Given the description of an element on the screen output the (x, y) to click on. 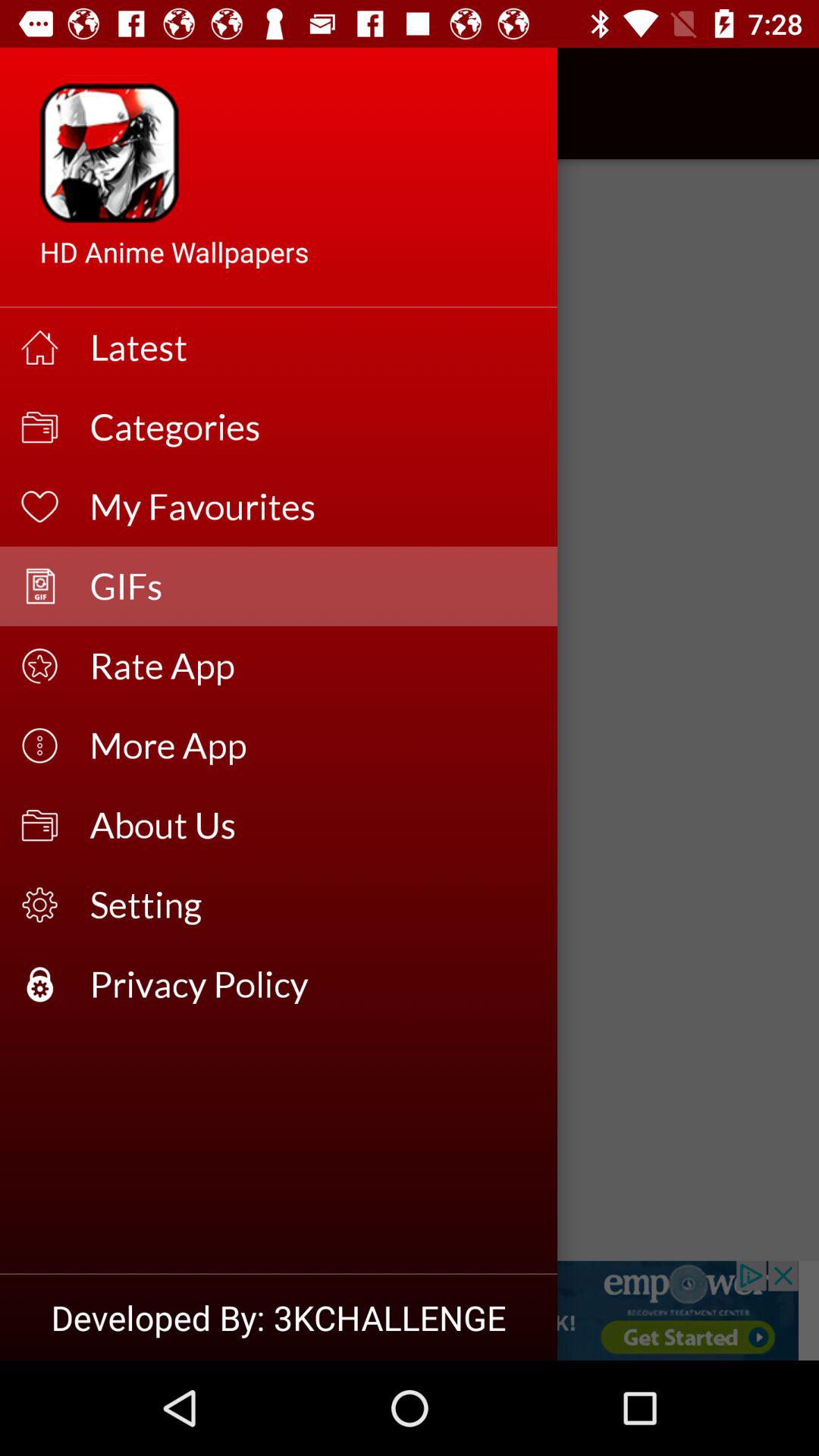
press more app icon (313, 745)
